Given the description of an element on the screen output the (x, y) to click on. 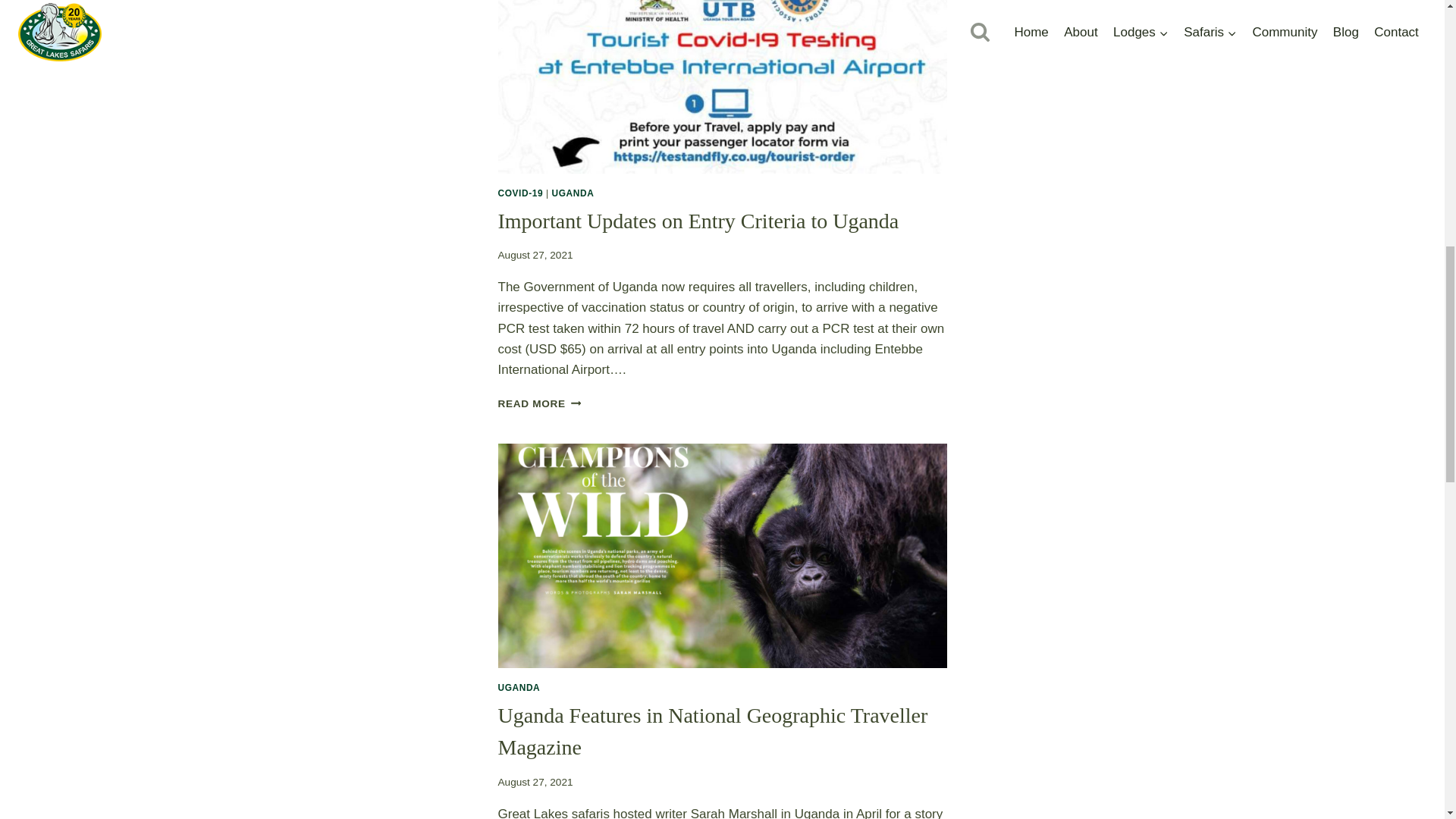
Important Updates on Entry Criteria to Uganda (538, 403)
UGANDA (697, 220)
COVID-19 (572, 193)
